Given the description of an element on the screen output the (x, y) to click on. 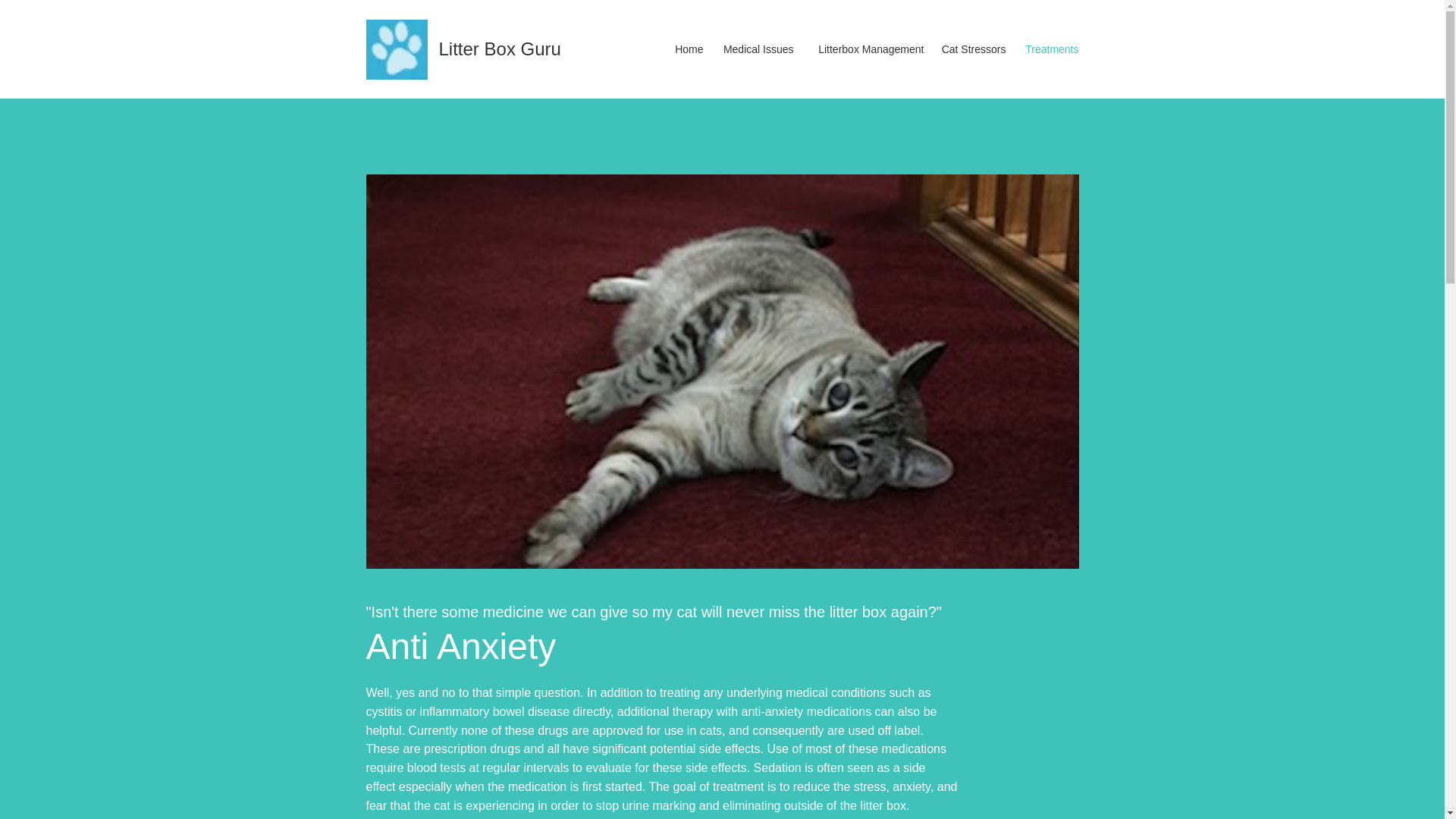
Litterbox Management (865, 48)
Home (687, 48)
Cat Stressors (972, 48)
Medical Issues (756, 48)
Treatments (1049, 48)
